Given the description of an element on the screen output the (x, y) to click on. 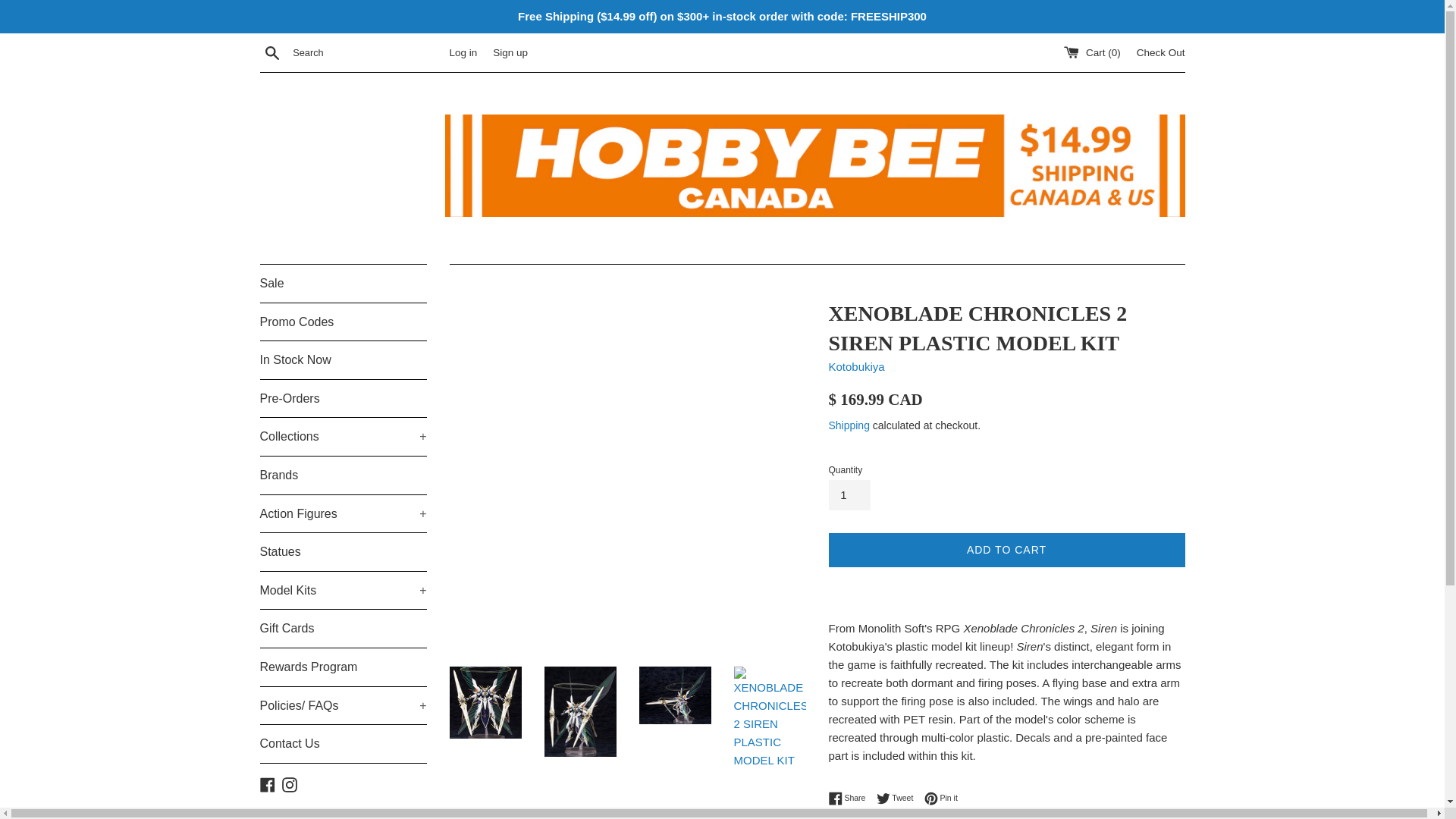
In Stock Now (342, 360)
1 (848, 494)
Check Out (1161, 52)
Hobby Bee Canada on Instagram (289, 783)
Promo Codes (342, 322)
Tweet on Twitter (898, 798)
Sale (342, 283)
Pre-Orders (342, 398)
Search (271, 52)
Log in (462, 52)
